Given the description of an element on the screen output the (x, y) to click on. 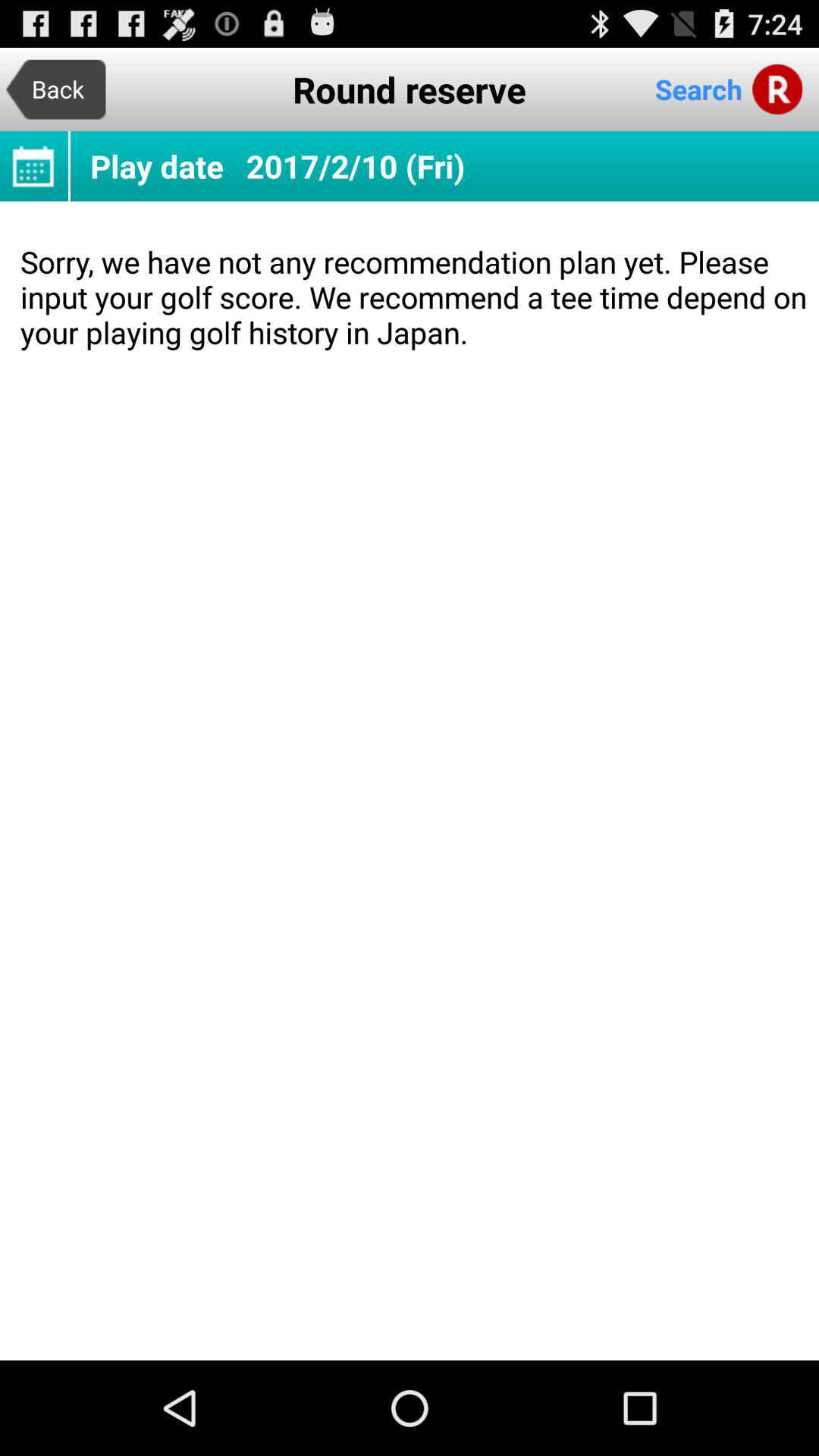
turn off item to the left of the round reserve item (55, 89)
